Given the description of an element on the screen output the (x, y) to click on. 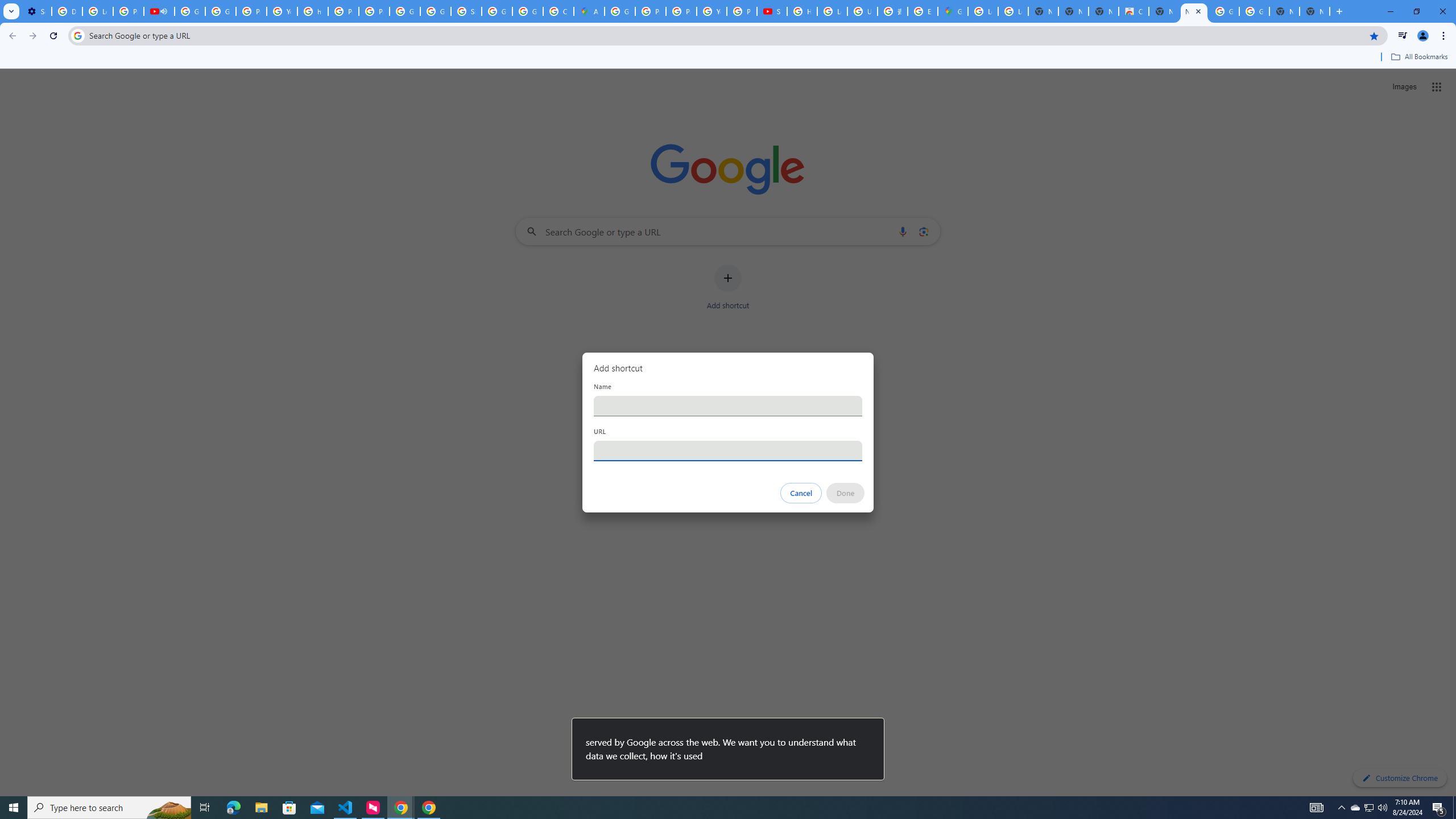
Google Images (1224, 11)
URL (727, 450)
https://scholar.google.com/ (312, 11)
All Bookmarks (1418, 56)
How Chrome protects your passwords - Google Chrome Help (801, 11)
Chrome Web Store (1133, 11)
Settings - Performance (36, 11)
YouTube (282, 11)
Learn how to find your photos - Google Photos Help (97, 11)
